Given the description of an element on the screen output the (x, y) to click on. 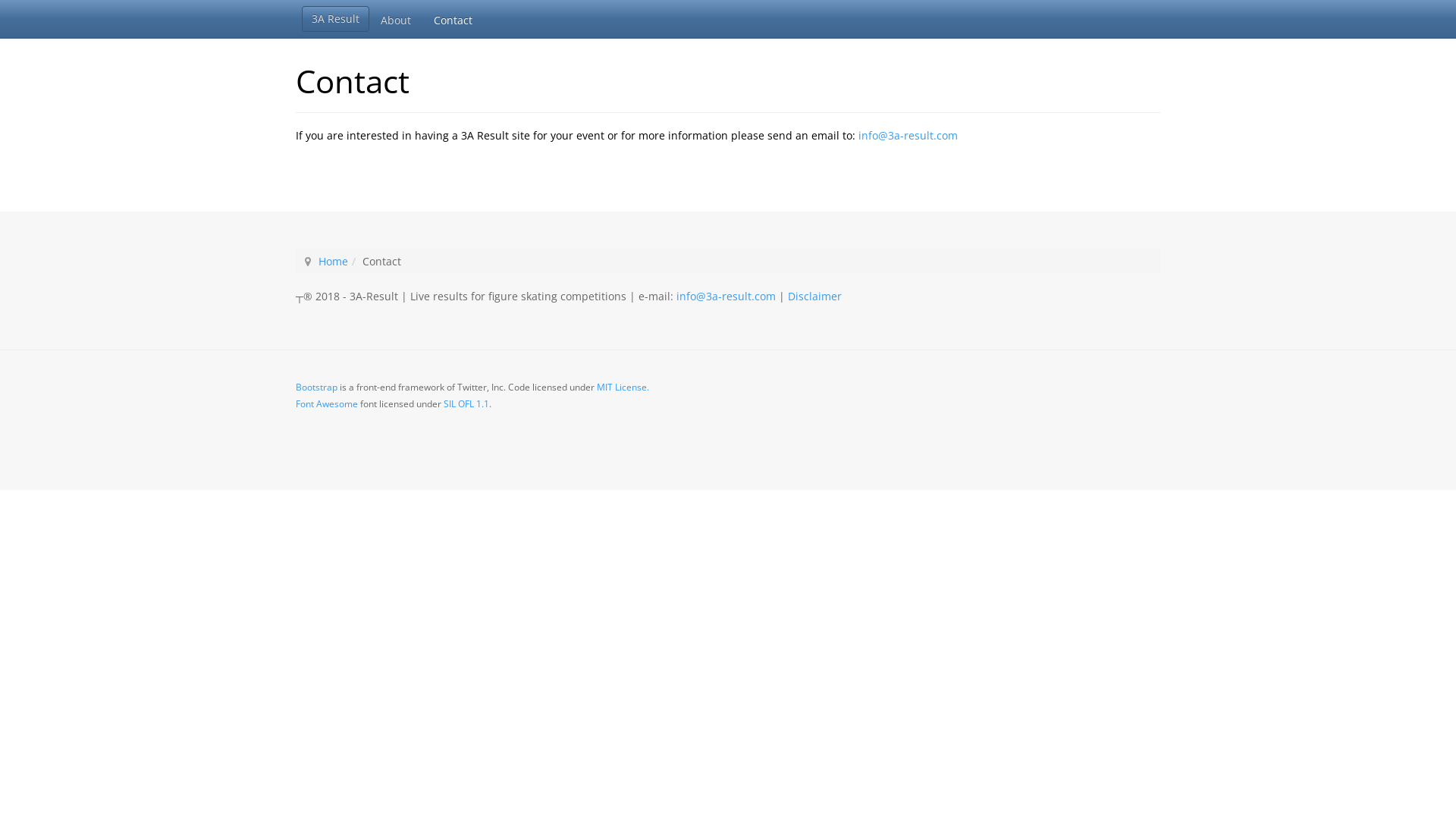
Bootstrap Element type: text (316, 386)
You are here:  Element type: hover (307, 261)
Font Awesome Element type: text (326, 403)
MIT License. Element type: text (622, 386)
info@3a-result.com Element type: text (907, 135)
info@3a-result.com Element type: text (725, 295)
Home Element type: text (333, 261)
About Element type: text (395, 18)
Contact Element type: text (452, 18)
Disclaimer Element type: text (814, 295)
SIL OFL 1.1 Element type: text (466, 403)
3A Result Element type: text (335, 18)
